Given the description of an element on the screen output the (x, y) to click on. 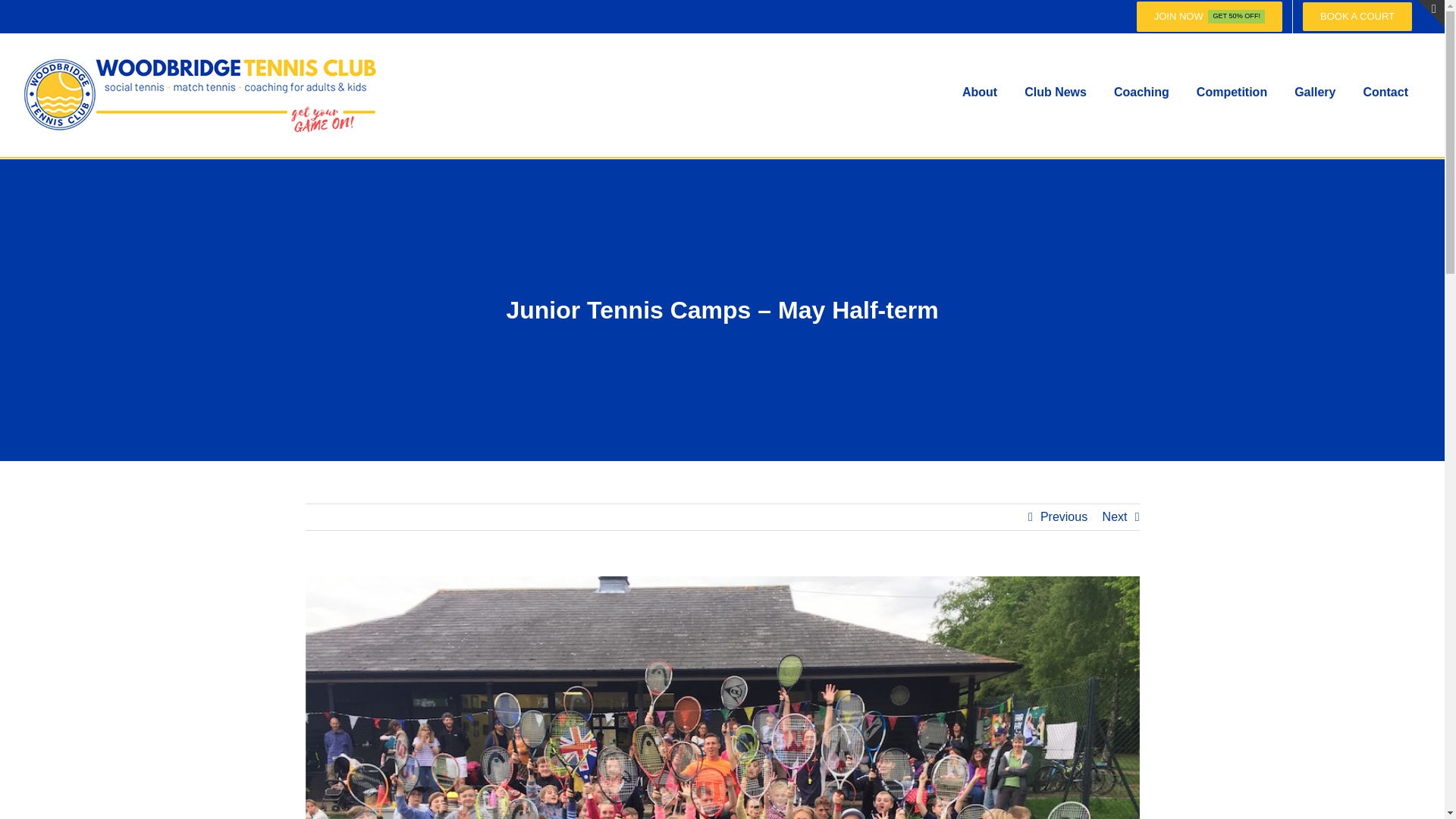
Competition (1231, 92)
BOOK A COURT (1357, 16)
Coaching (1141, 92)
Contact (1385, 92)
Gallery (1315, 92)
Club News (1055, 92)
About (979, 92)
